Given the description of an element on the screen output the (x, y) to click on. 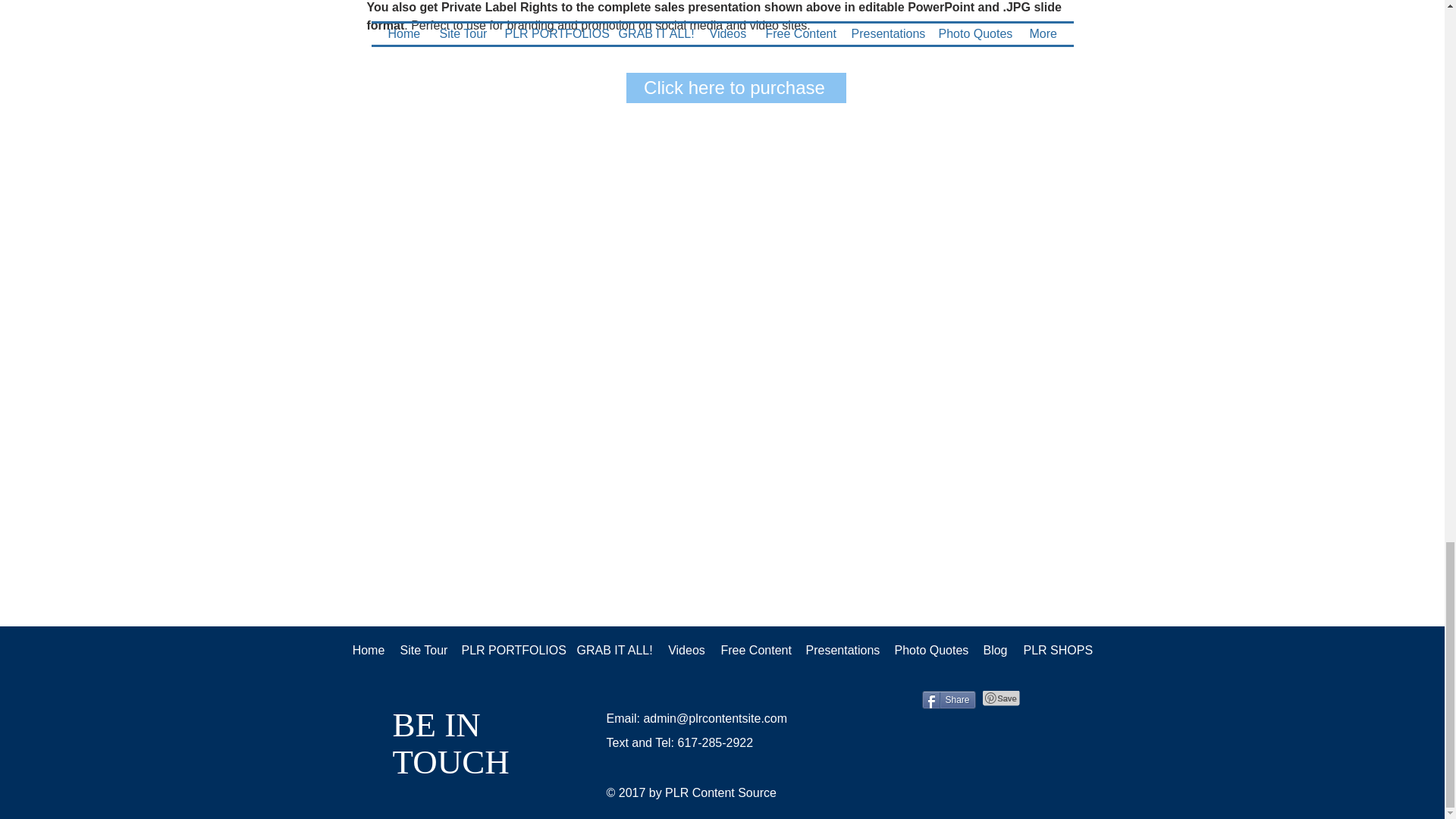
Pin to Pinterest (1001, 698)
Share (948, 700)
Twitter Tweet (892, 699)
